Given the description of an element on the screen output the (x, y) to click on. 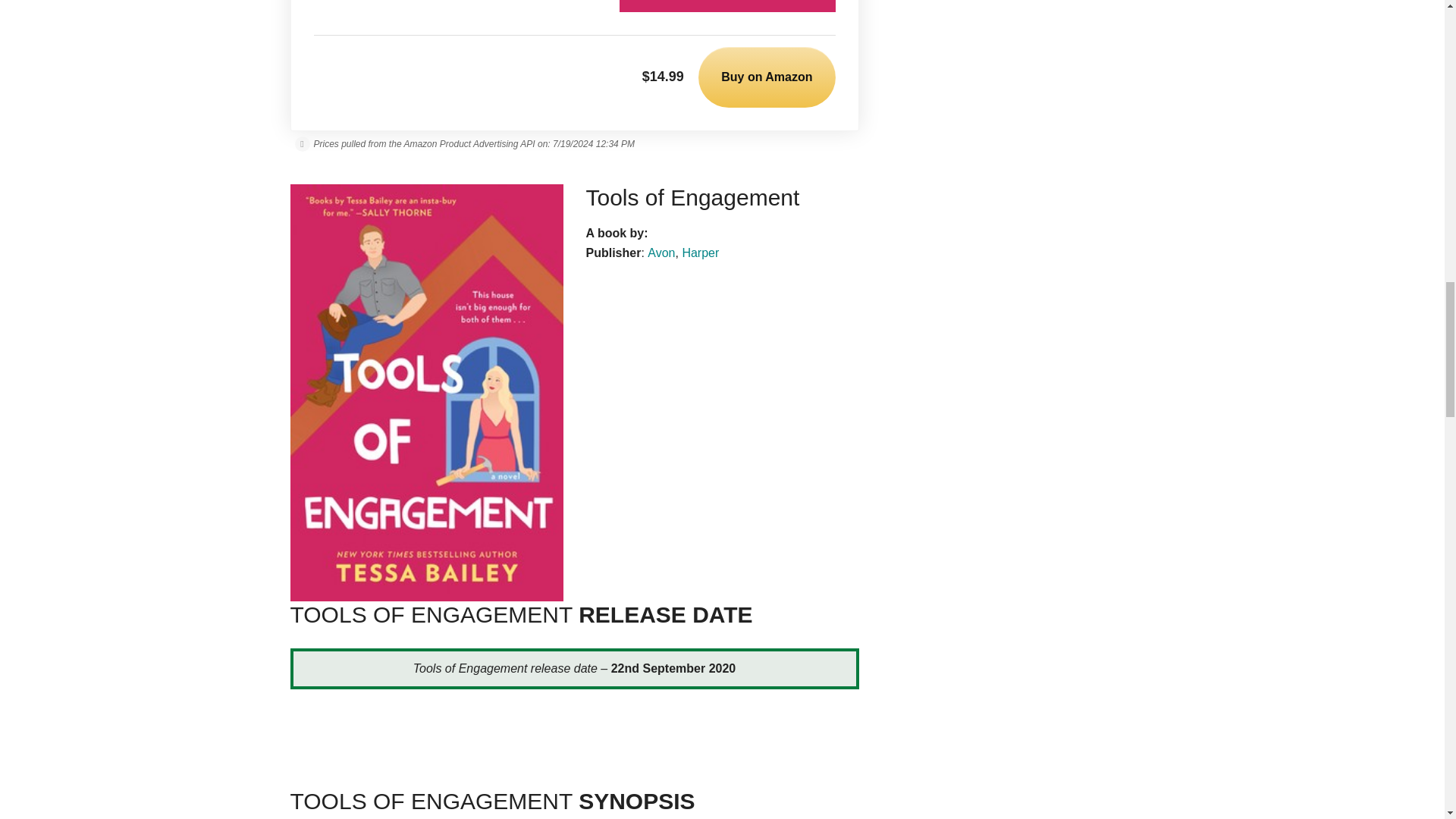
Buy on Amazon (766, 76)
Avon (661, 252)
Harper (700, 252)
